Given the description of an element on the screen output the (x, y) to click on. 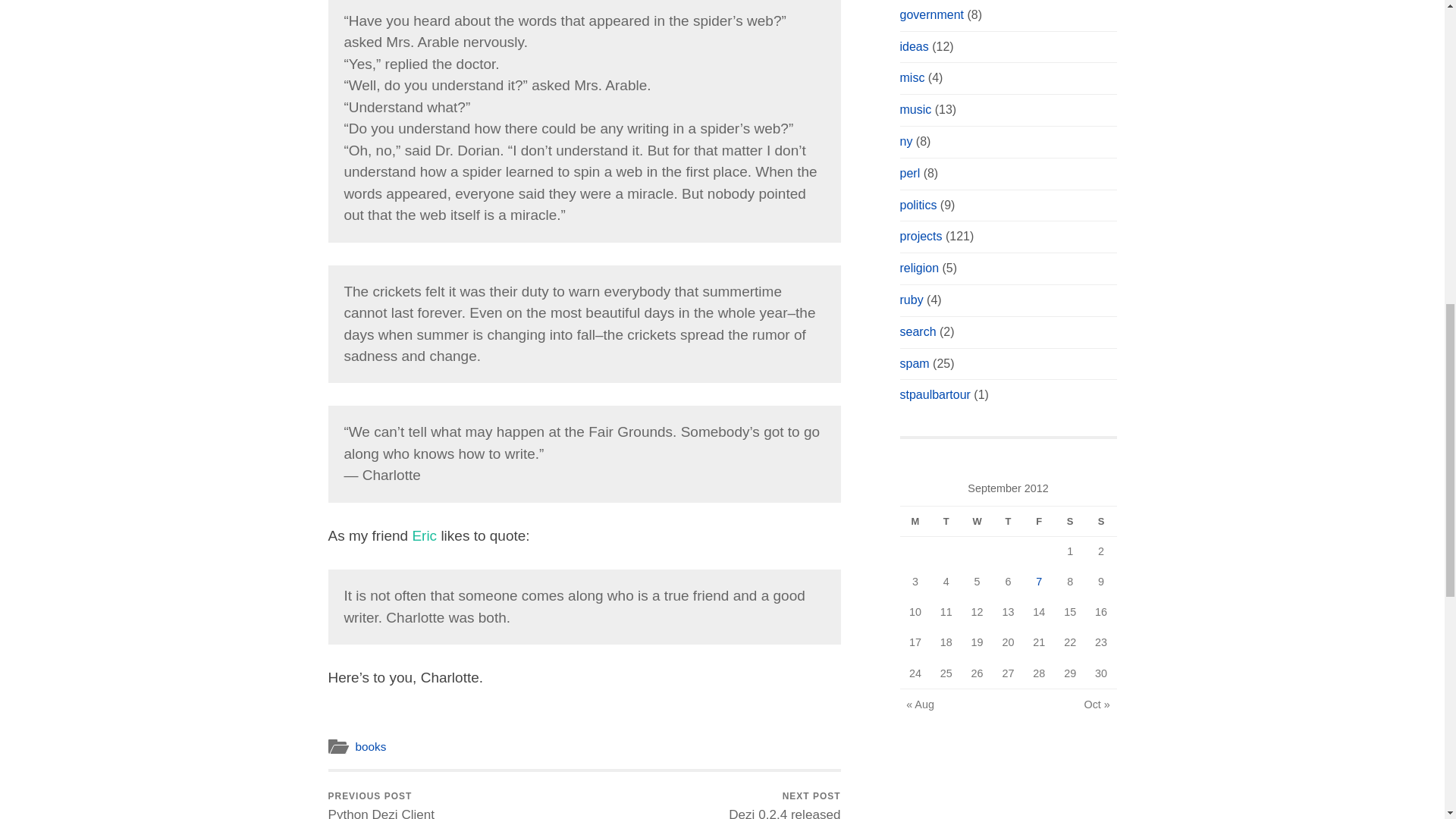
misc (911, 77)
books (370, 746)
Thursday (1007, 521)
Friday (1038, 521)
projects (920, 236)
government (931, 14)
religion (919, 267)
music (915, 109)
Monday (914, 521)
ny (905, 141)
politics (917, 205)
Saturday (1070, 521)
Eric (424, 535)
ideas (913, 46)
